Given the description of an element on the screen output the (x, y) to click on. 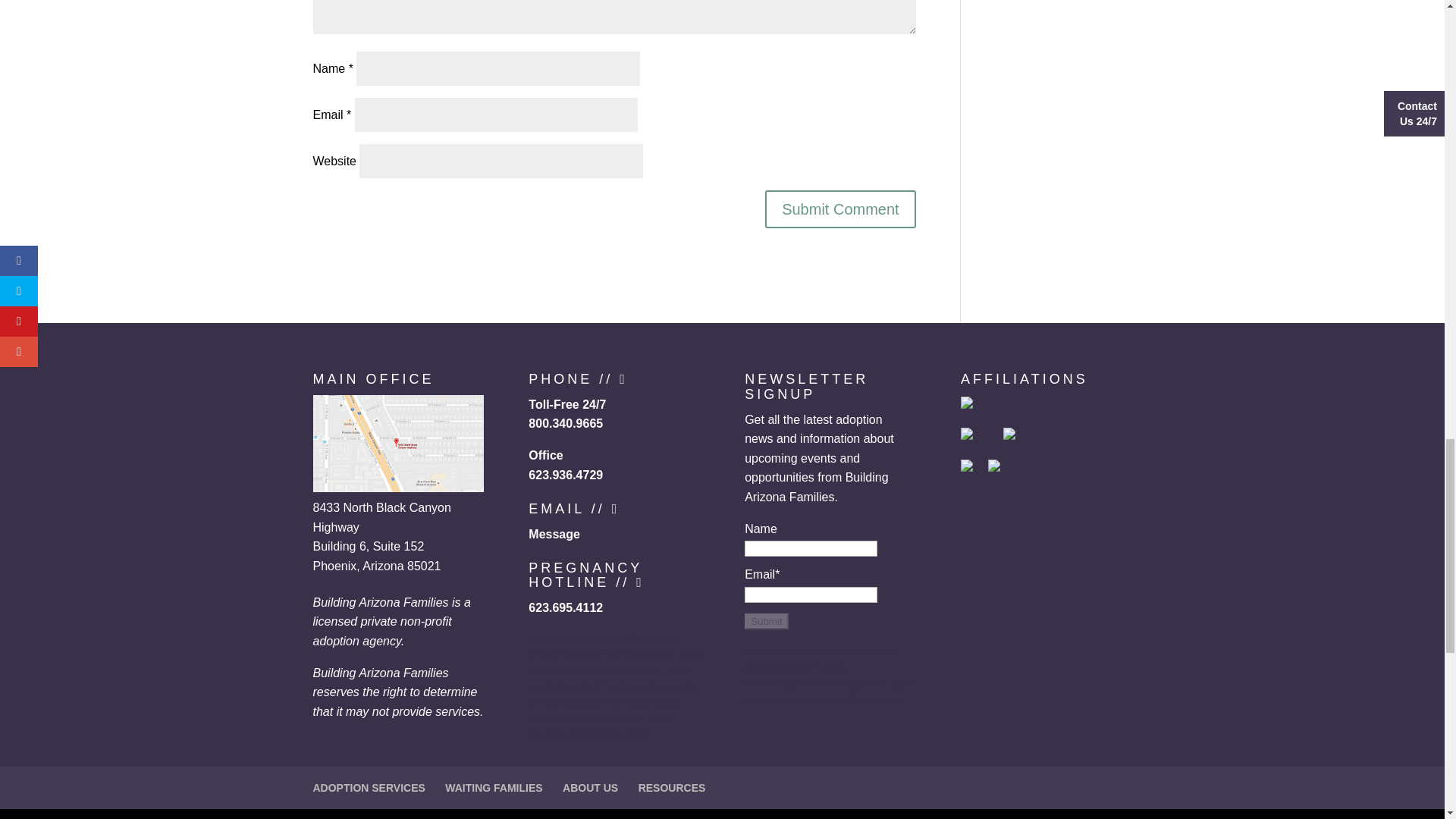
Submit (765, 621)
Submit Comment (840, 209)
